Given the description of an element on the screen output the (x, y) to click on. 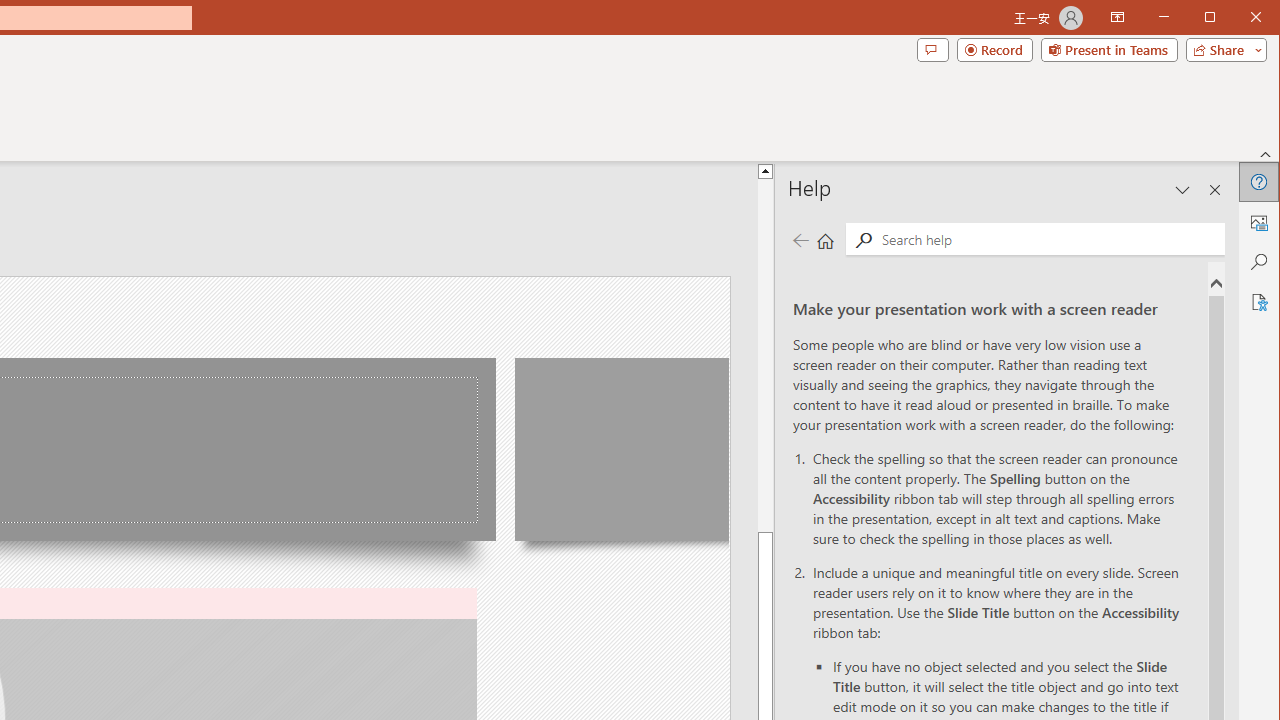
Page up (765, 355)
Previous page (800, 240)
Alt Text (1258, 221)
Maximize (1238, 18)
